Given the description of an element on the screen output the (x, y) to click on. 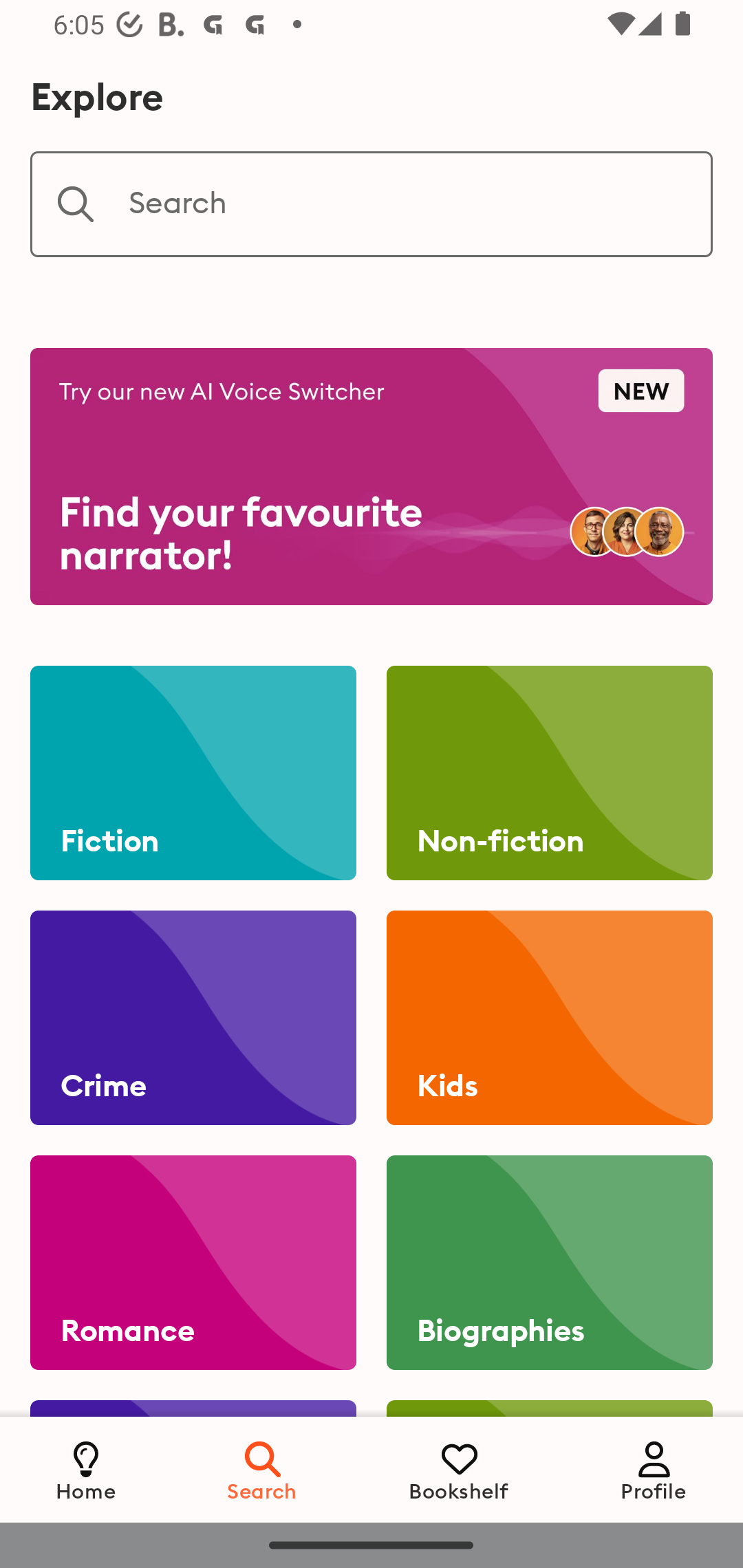
Search (371, 203)
Fiction (193, 772)
Non-fiction (549, 772)
Crime (193, 1018)
Kids (549, 1018)
Romance (193, 1262)
Biographies (549, 1262)
Home (85, 1468)
Search (262, 1468)
Bookshelf (458, 1468)
Profile (653, 1468)
